Given the description of an element on the screen output the (x, y) to click on. 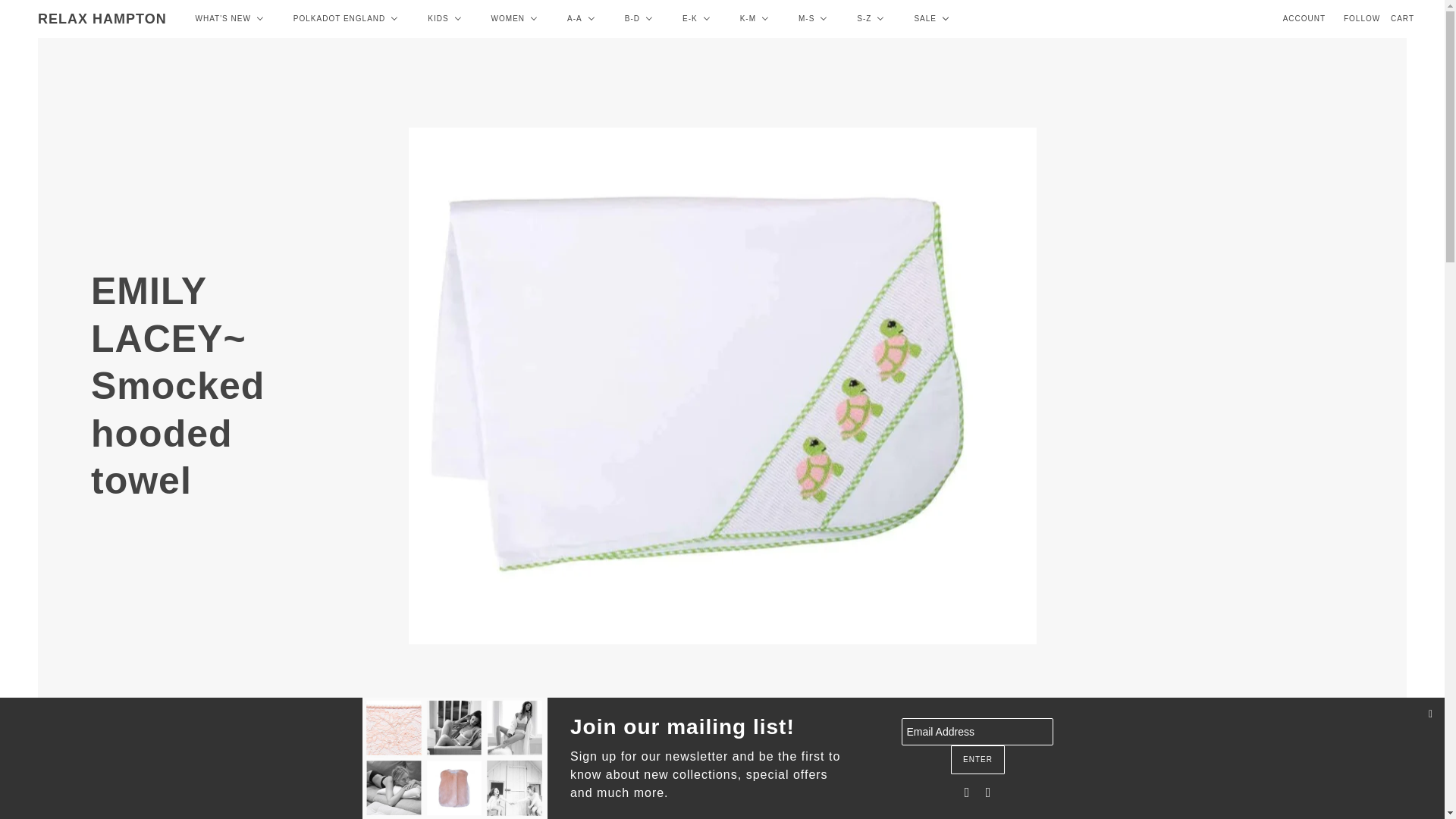
POLKADOT ENGLAND (346, 18)
WHAT'S NEW (229, 18)
RELAX HAMPTON (102, 18)
Enter (977, 758)
